Given the description of an element on the screen output the (x, y) to click on. 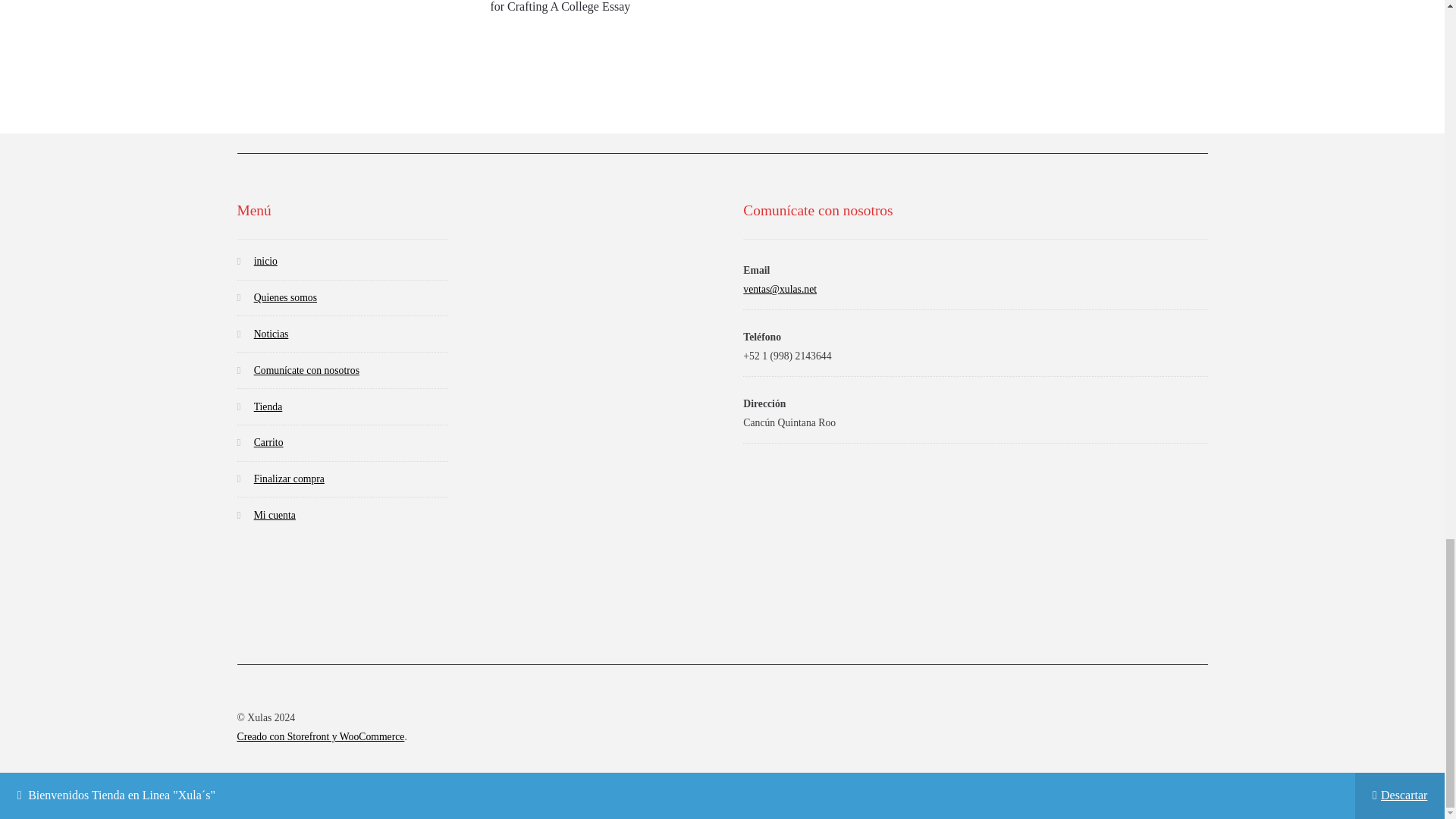
inicio (265, 260)
Carrito (268, 441)
Noticias (270, 333)
Quienes somos (285, 297)
Tienda (267, 406)
Finalizar compra (288, 478)
